Given the description of an element on the screen output the (x, y) to click on. 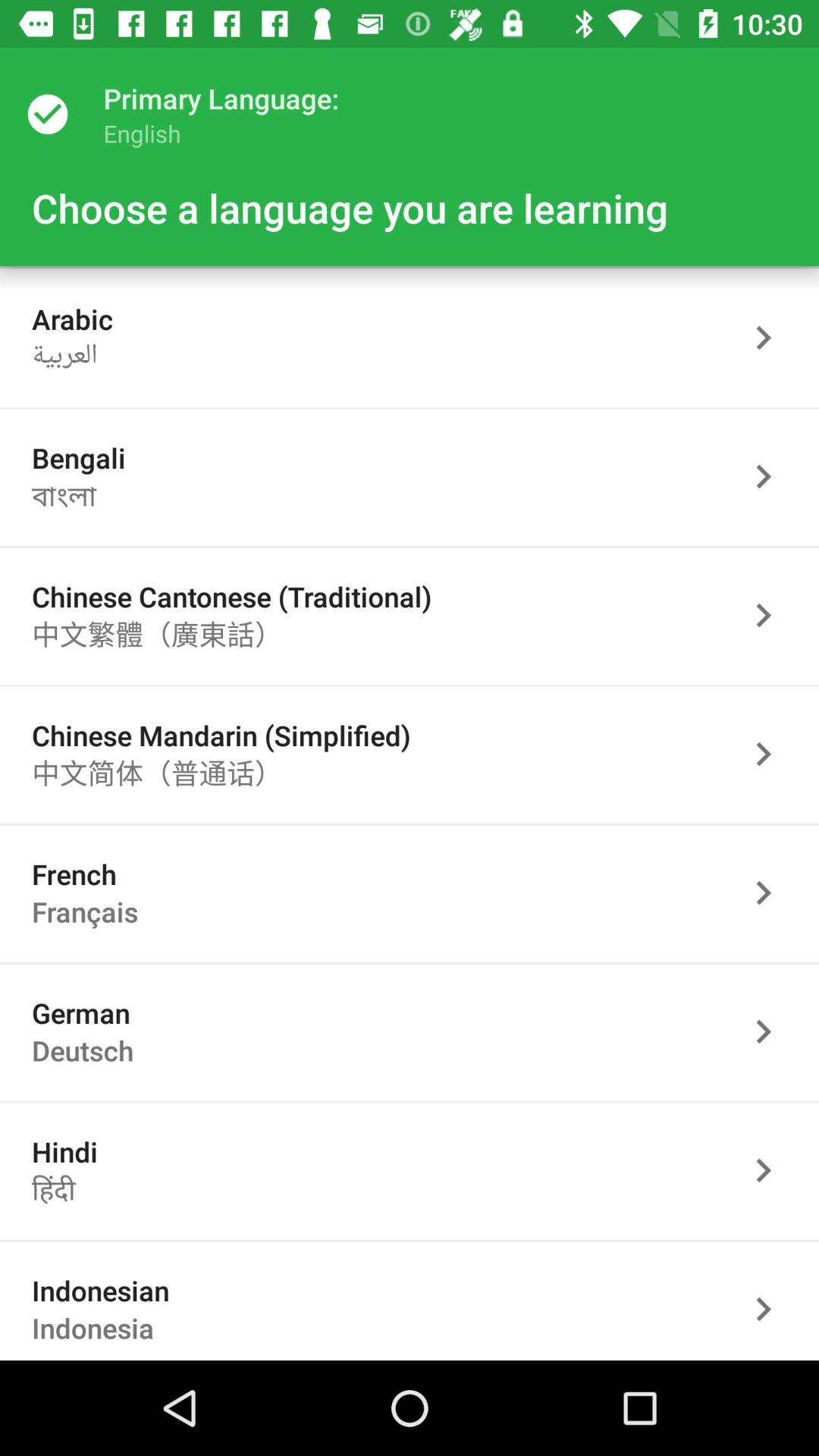
select language as indonesian (771, 1306)
